Given the description of an element on the screen output the (x, y) to click on. 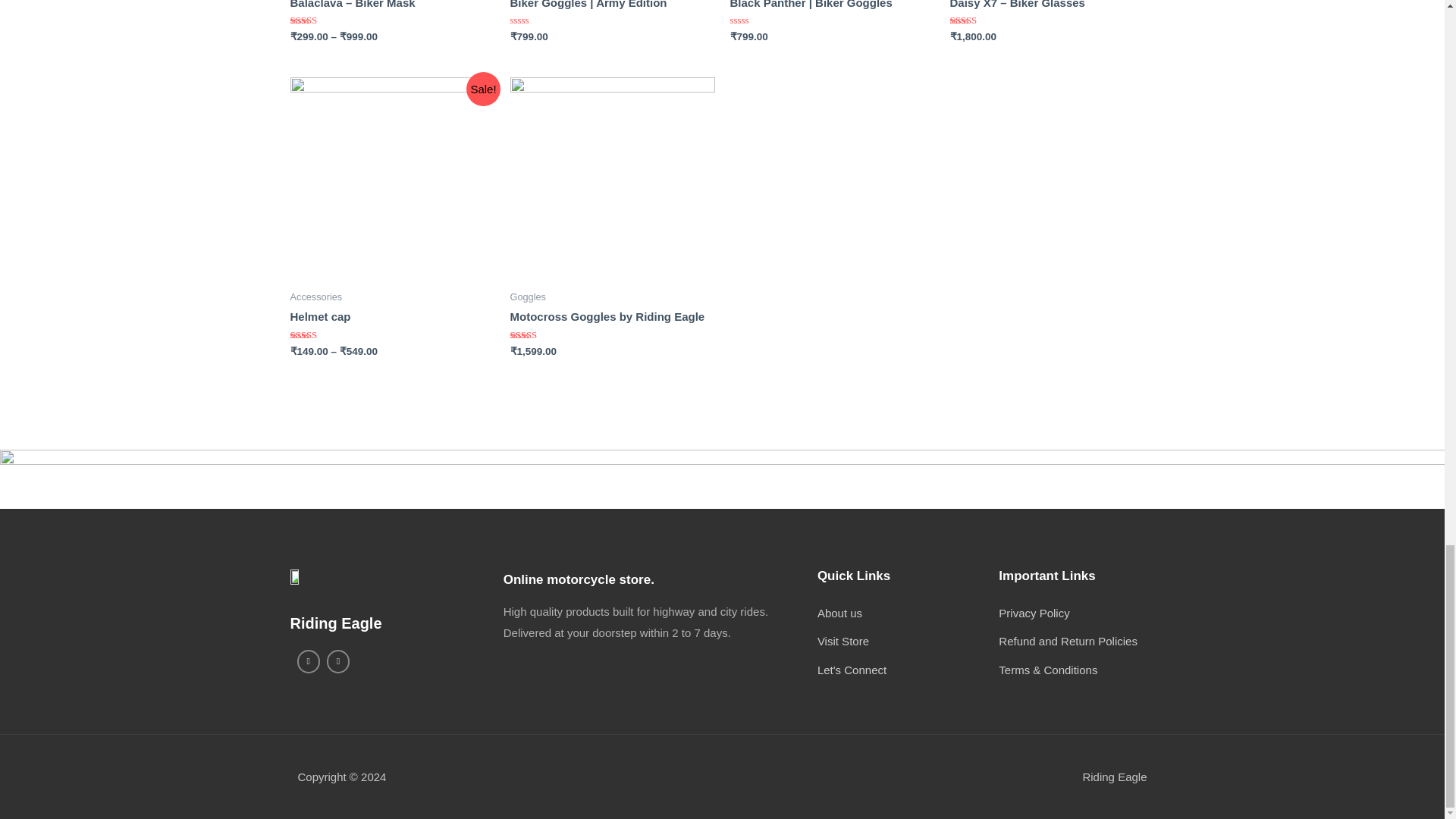
Let's Connect (907, 670)
Helmet cap (392, 316)
Privacy Policy (1076, 613)
Refund and Return Policies (1076, 640)
Visit Store (907, 640)
Motocross Goggles by Riding Eagle (611, 316)
About us (907, 613)
